Given the description of an element on the screen output the (x, y) to click on. 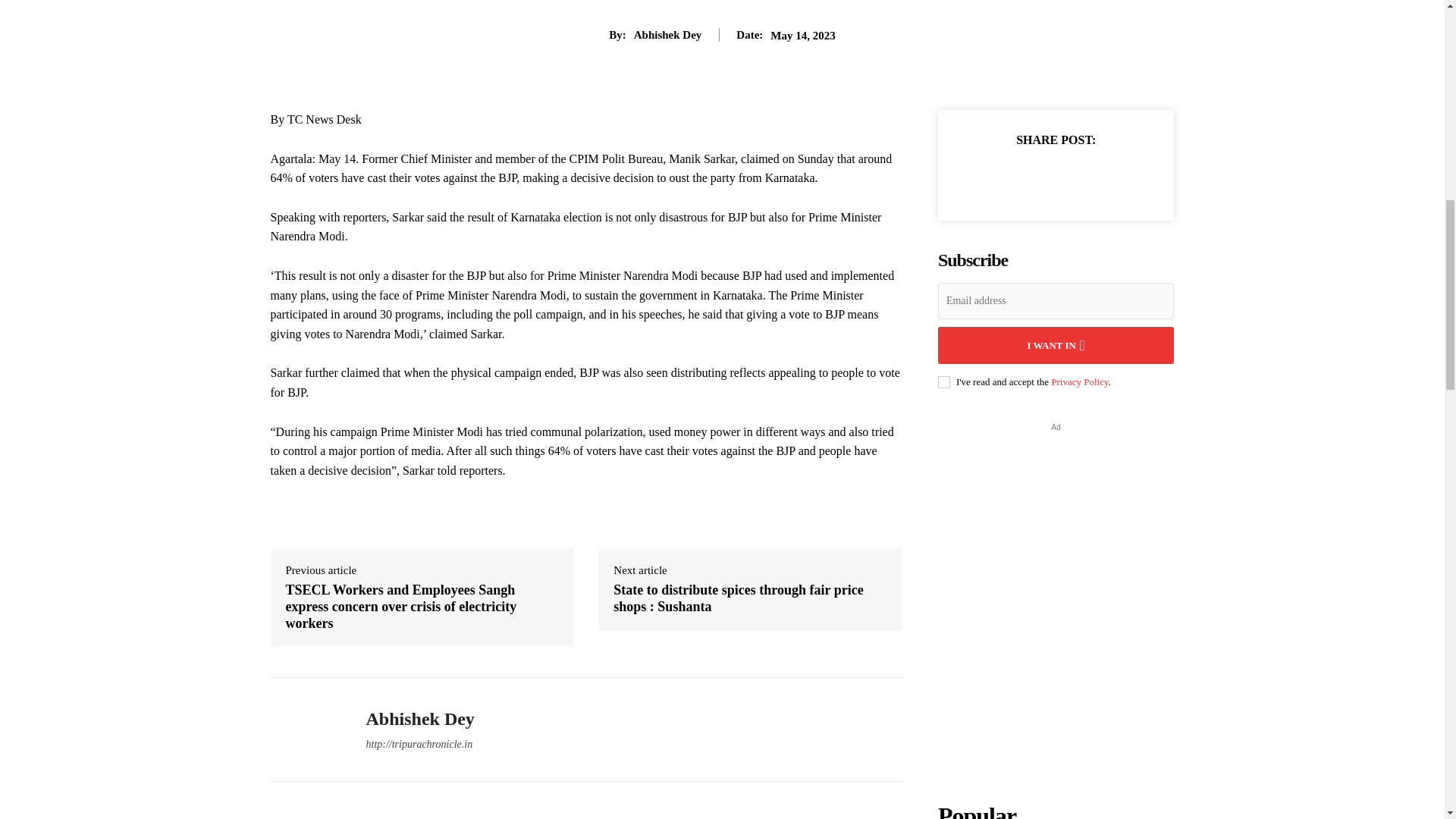
Abhishek Dey (305, 728)
